Given the description of an element on the screen output the (x, y) to click on. 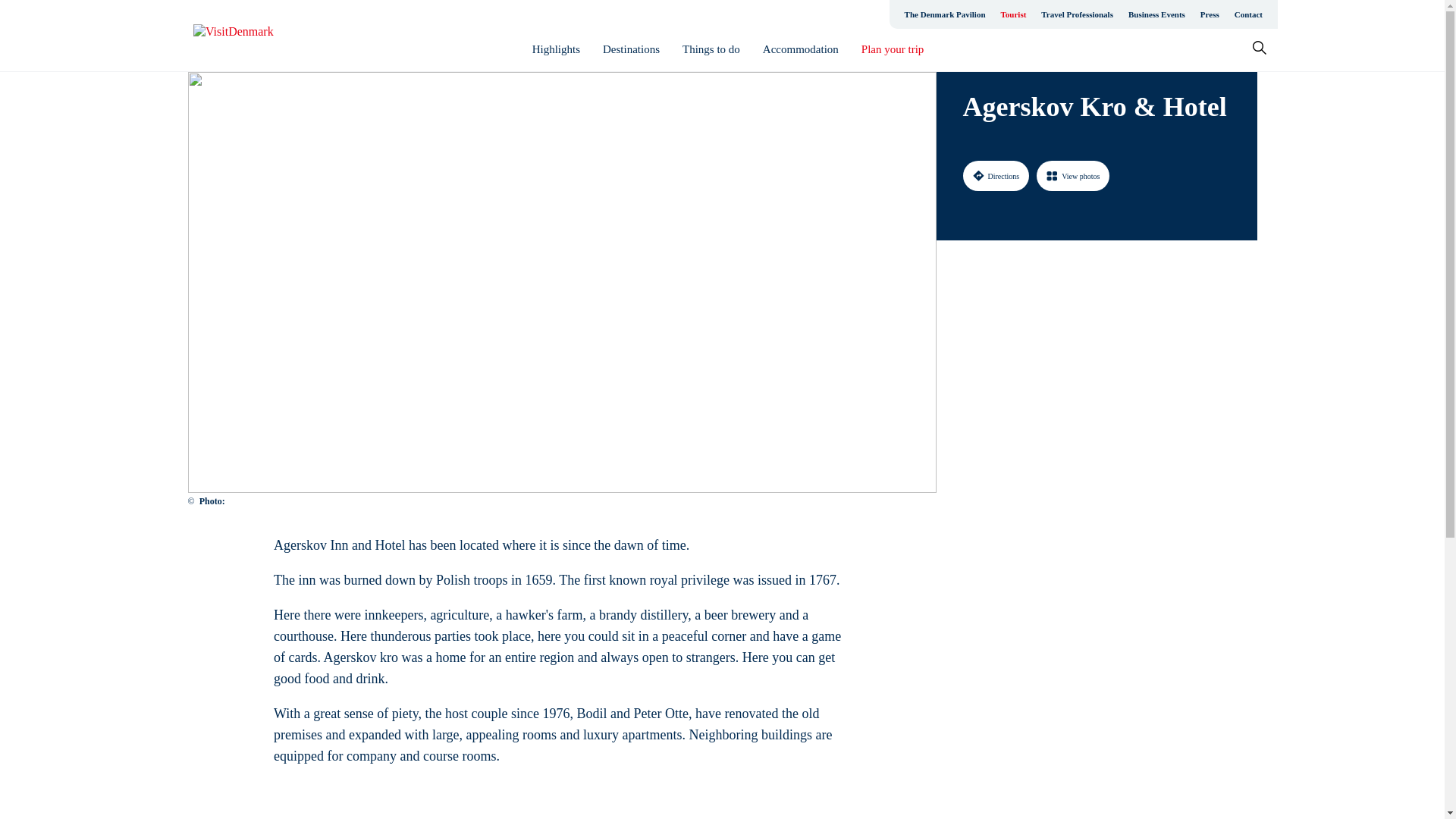
Business Events (1156, 14)
Highlights (555, 49)
Press (1209, 14)
Travel Professionals (1077, 14)
Go to homepage (253, 35)
Destinations (630, 49)
Contact (1248, 14)
The Denmark Pavilion (944, 14)
Things to do (710, 49)
View photos (1072, 175)
